Given the description of an element on the screen output the (x, y) to click on. 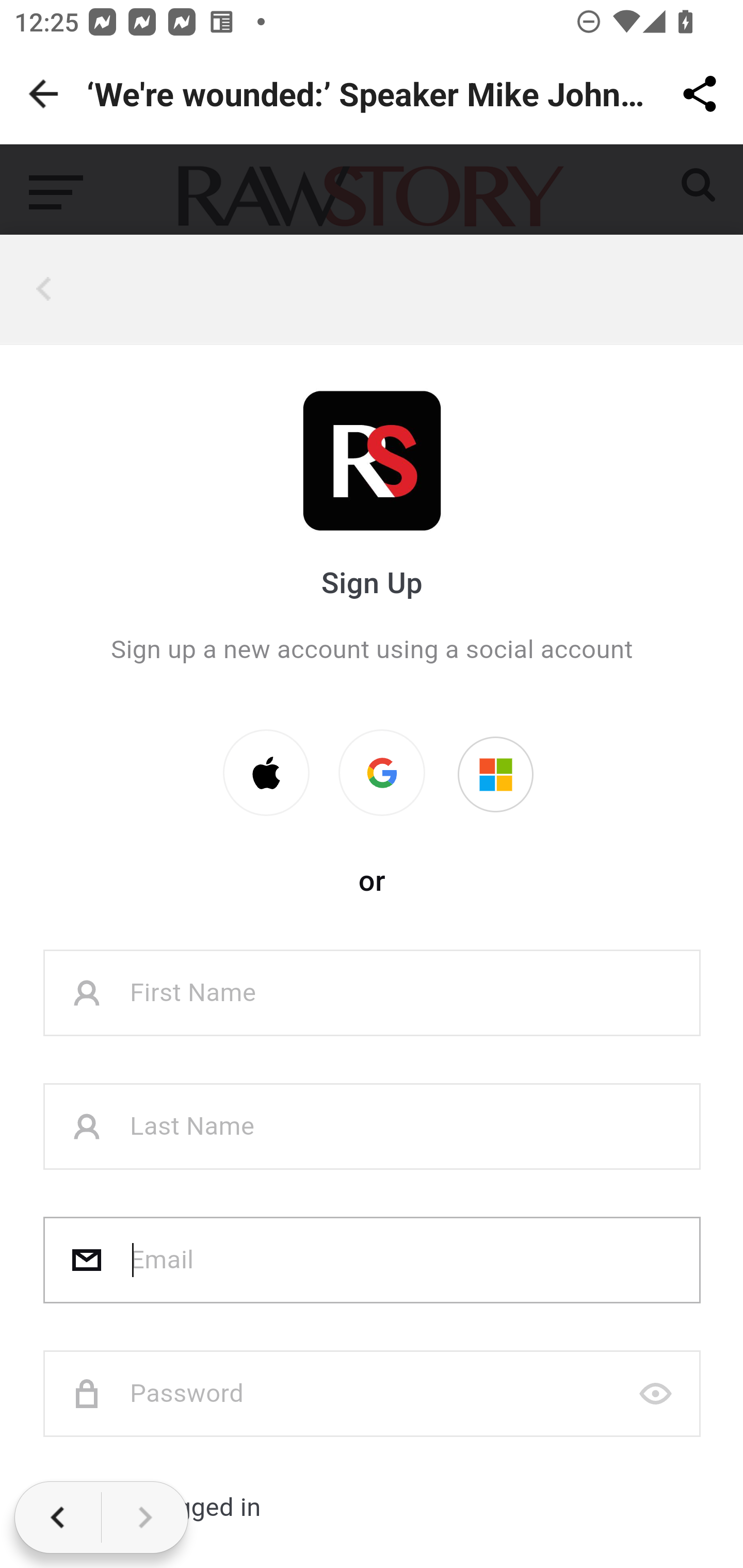
javascript:void(0) (47, 289)
Sign in with APPLE (266, 772)
Sign in with GOOGLE (381, 772)
Sign in with Microsoft (495, 774)
Show password (655, 1394)
